Given the description of an element on the screen output the (x, y) to click on. 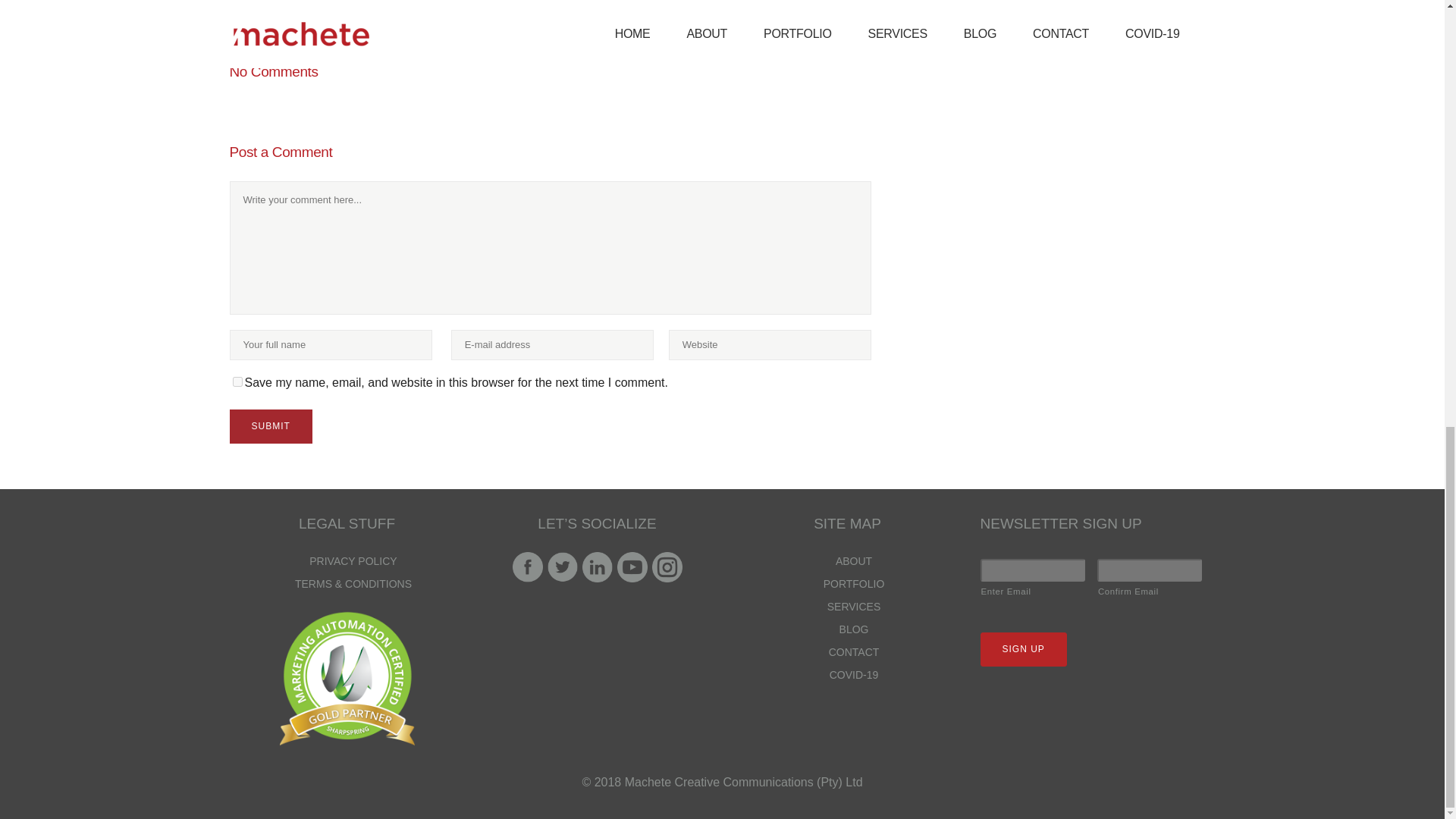
yes (236, 381)
Submit (269, 426)
Sign Up (1022, 649)
Submit (269, 426)
